Given the description of an element on the screen output the (x, y) to click on. 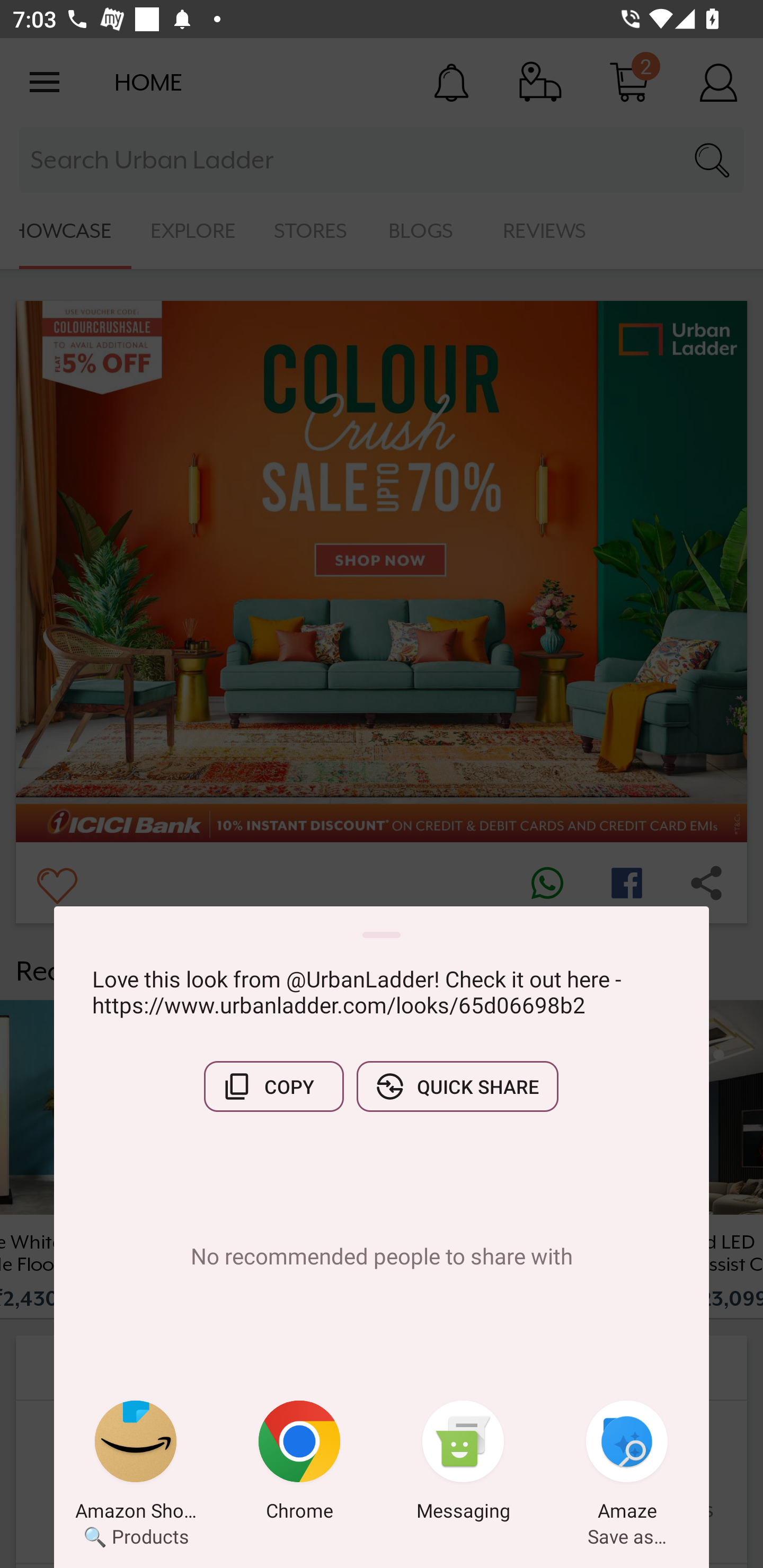
COPY (273, 1086)
QUICK SHARE (457, 1086)
Amazon Shopping 🔍 Products (135, 1463)
Chrome (299, 1463)
Messaging (463, 1463)
Amaze Save as… (626, 1463)
